Given the description of an element on the screen output the (x, y) to click on. 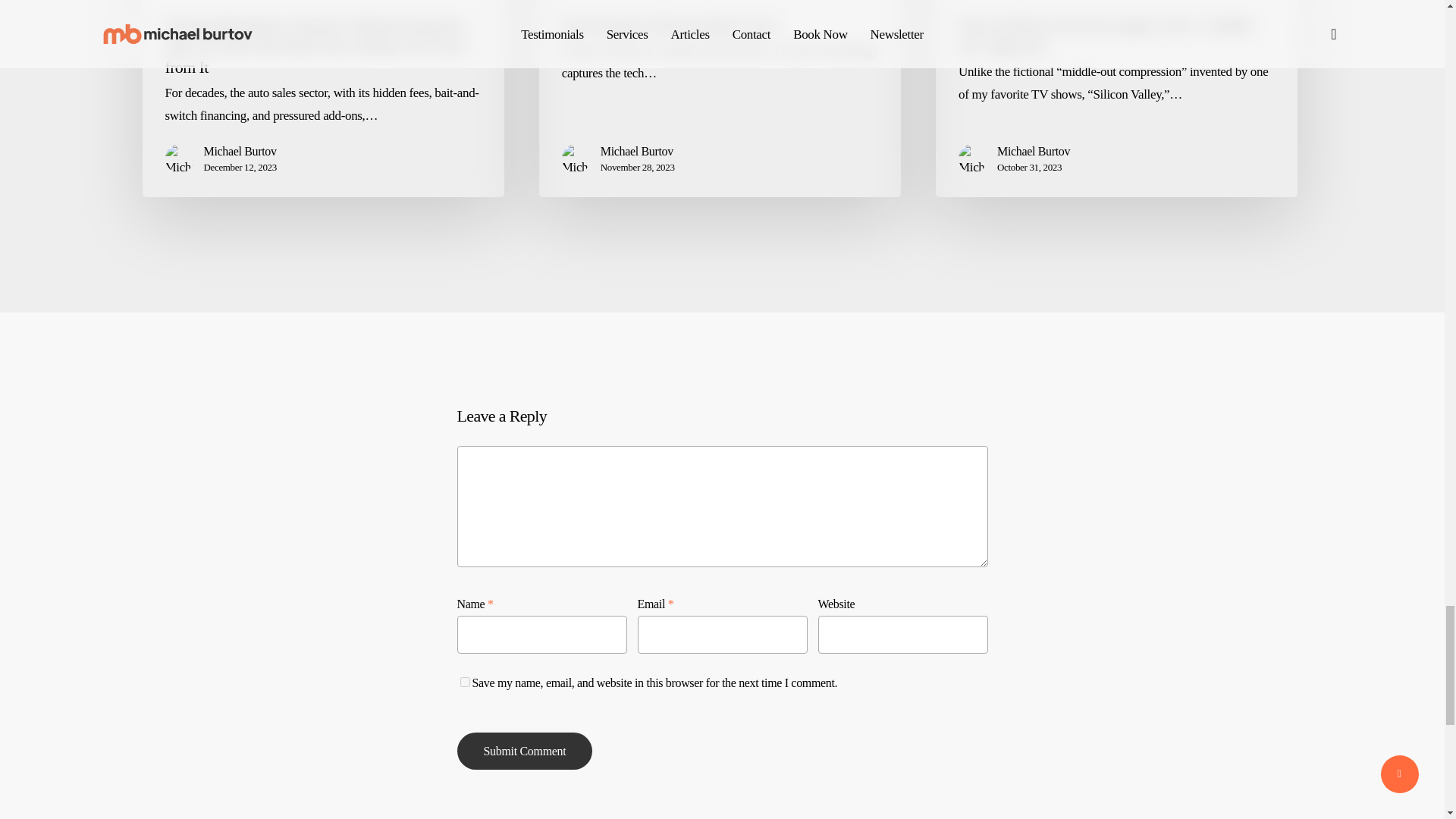
yes (464, 682)
Michael Burtov (239, 151)
Michael Burtov (1033, 151)
Michael Burtov (637, 151)
Submit Comment (524, 750)
Submit Comment (524, 750)
